Given the description of an element on the screen output the (x, y) to click on. 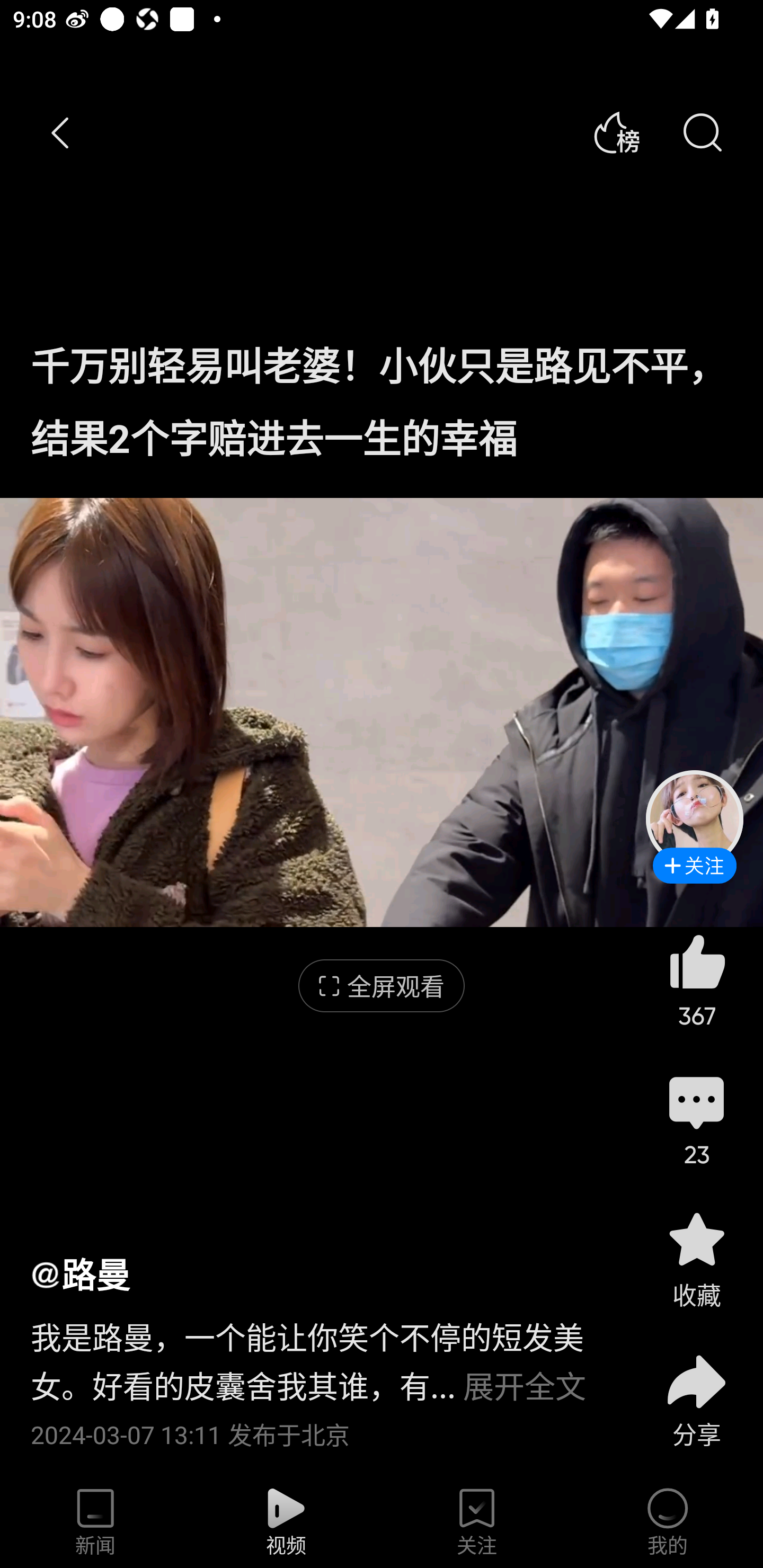
 返回 (60, 133)
 热榜 (616, 133)
 搜索 (701, 133)
赞 367 (696, 979)
全屏观看 (381, 985)
评论  23 (696, 1118)
收藏 (696, 1258)
路曼 (80, 1273)
分享  分享 (696, 1389)
